Given the description of an element on the screen output the (x, y) to click on. 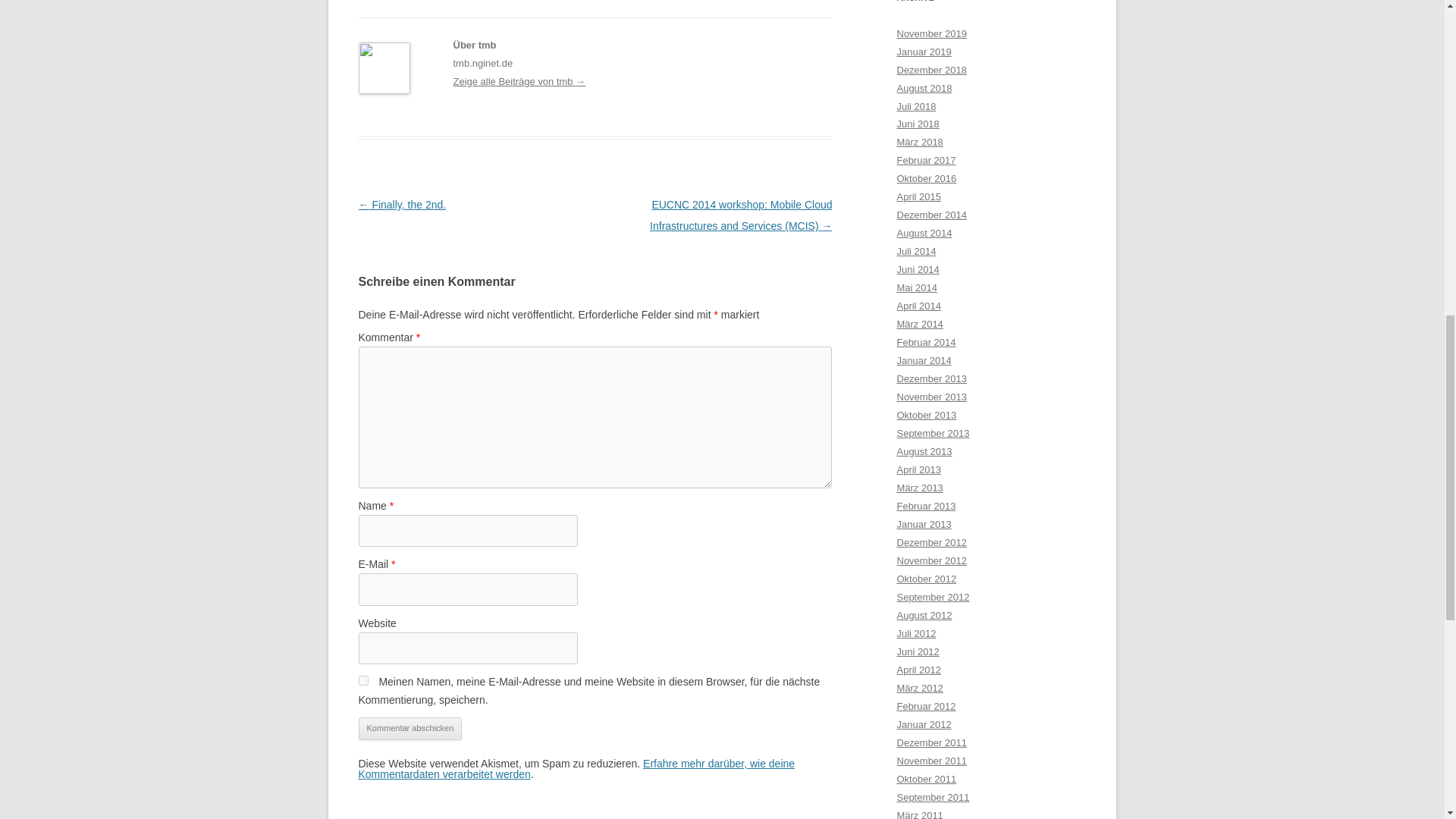
Kommentar abschicken (409, 728)
Kommentar abschicken (409, 728)
yes (363, 680)
